Given the description of an element on the screen output the (x, y) to click on. 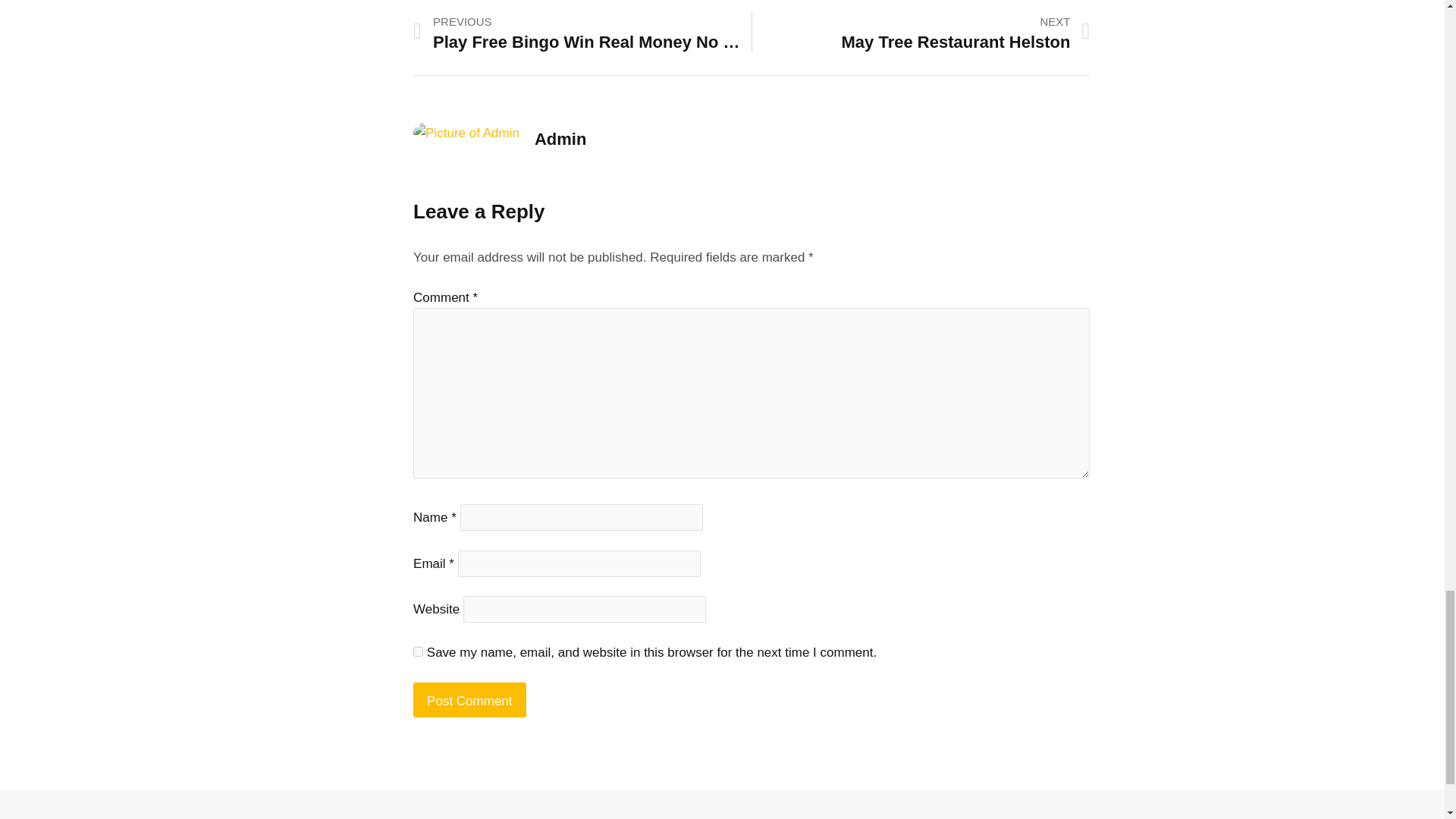
Post Comment (469, 699)
yes (418, 651)
